Given the description of an element on the screen output the (x, y) to click on. 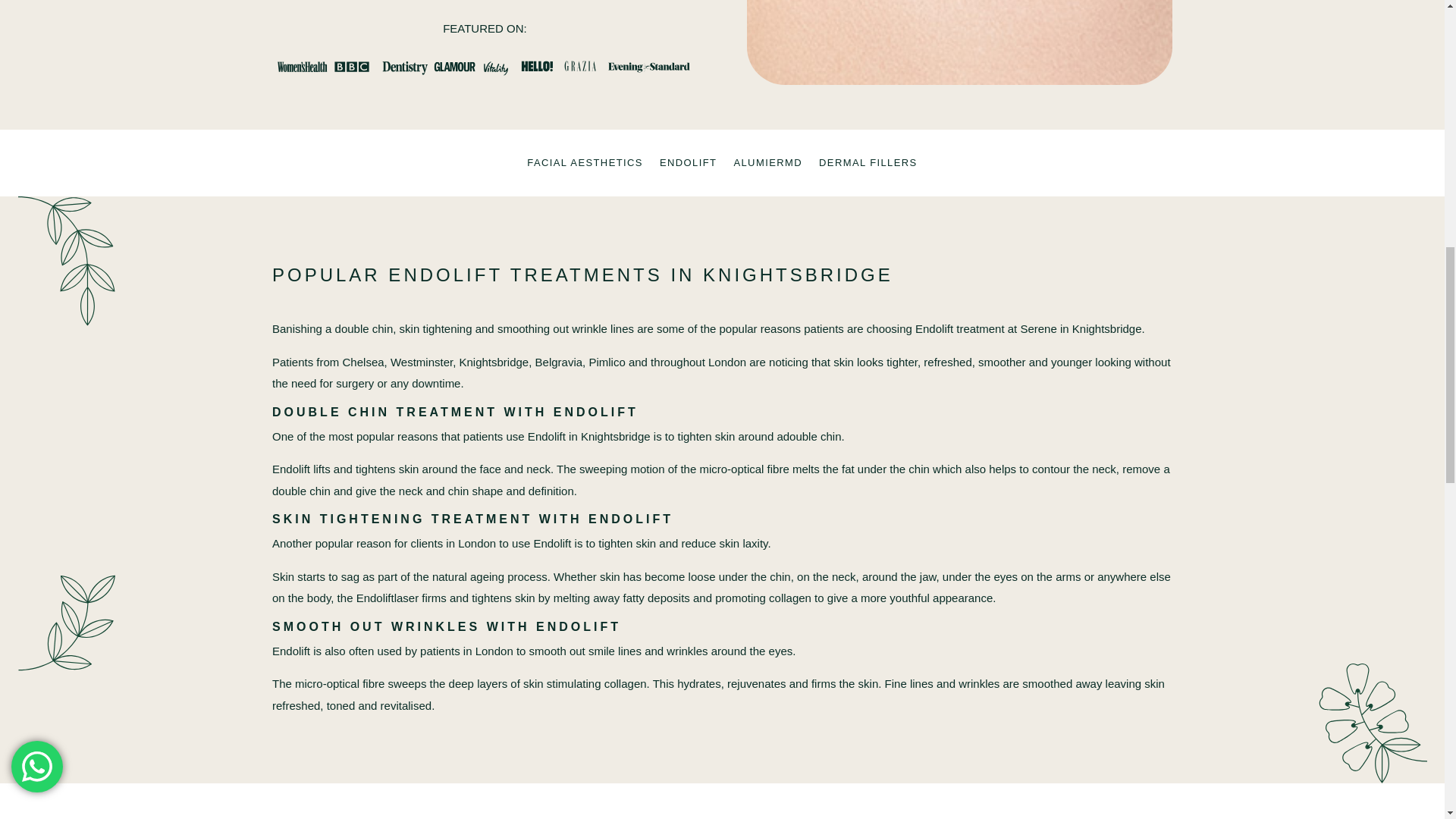
FACIAL AESTHETICS (585, 166)
ENDOLIFT (687, 166)
ALUMIERMD (767, 166)
DERMAL FILLERS (867, 166)
